Given the description of an element on the screen output the (x, y) to click on. 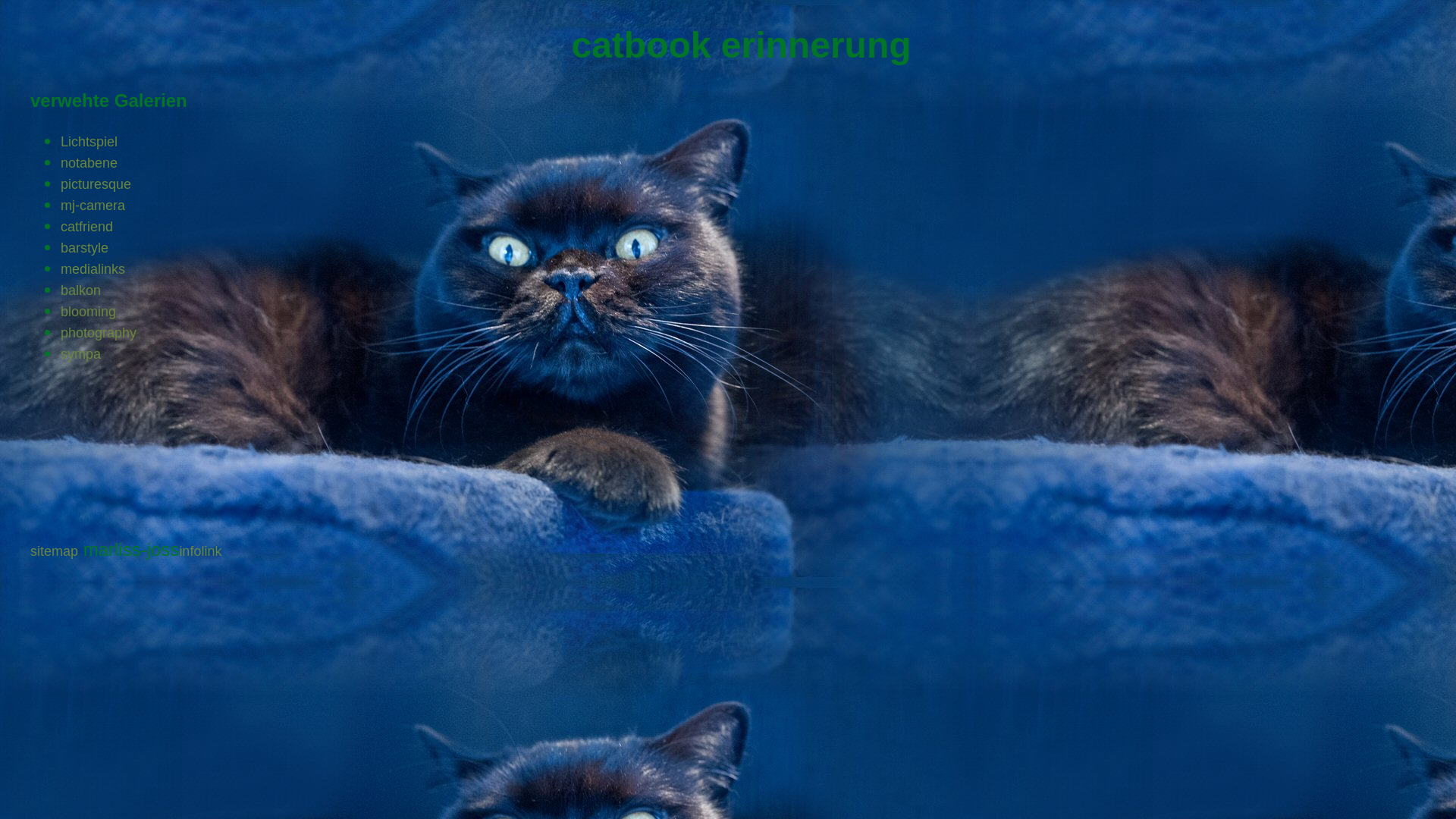
infolink Element type: text (199, 550)
catfriend Element type: text (86, 226)
picturesque Element type: text (95, 183)
notabene Element type: text (88, 162)
mj-camera Element type: text (92, 205)
medialinks Element type: text (92, 268)
sitemap Element type: text (54, 550)
blooming Element type: text (88, 311)
barstyle Element type: text (84, 247)
sympa Element type: text (80, 353)
photography Element type: text (98, 332)
Lichtspiel Element type: text (88, 141)
balkon Element type: text (80, 290)
